Given the description of an element on the screen output the (x, y) to click on. 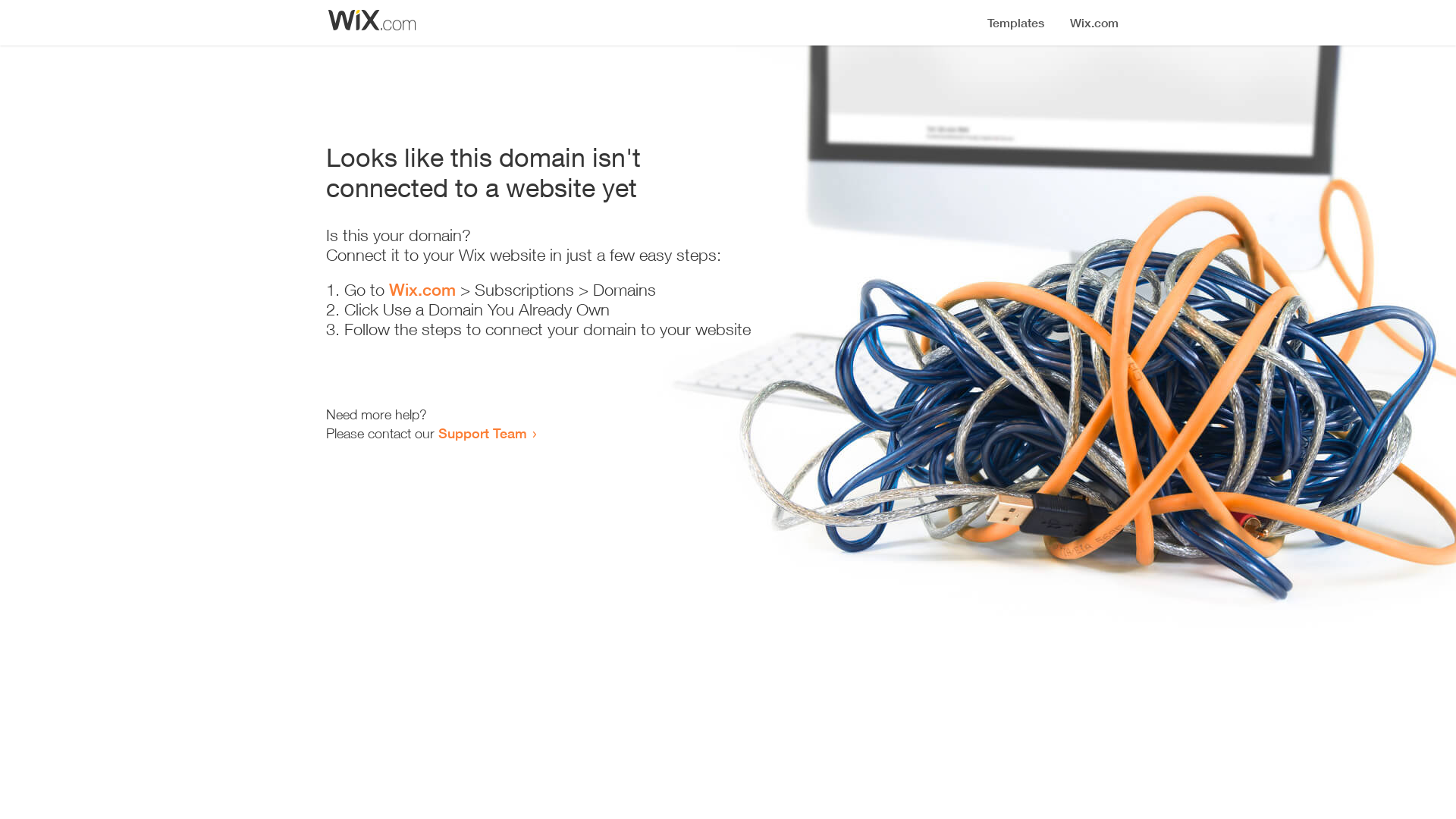
Wix.com Element type: text (422, 289)
Support Team Element type: text (482, 432)
